Given the description of an element on the screen output the (x, y) to click on. 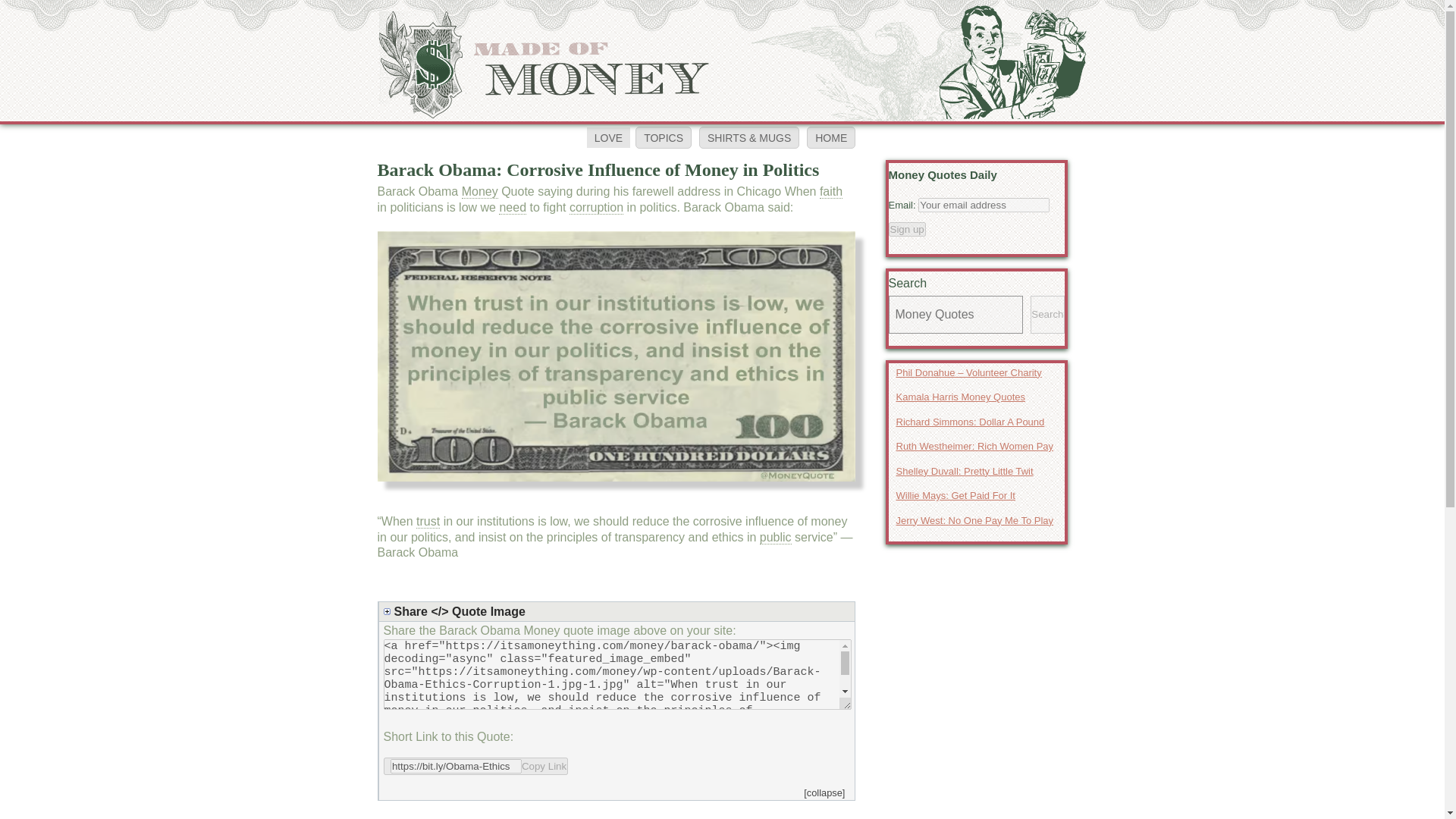
need (512, 207)
Sign up (907, 228)
trust (427, 521)
Willie Mays: Get Paid For It (976, 496)
  Copy Link (476, 765)
Richard Simmons: Dollar A Pound (976, 422)
faith (831, 192)
Shelley Duvall: Pretty Little Twit (976, 470)
Ruth Westheimer: Rich Women Pay (976, 446)
